Given the description of an element on the screen output the (x, y) to click on. 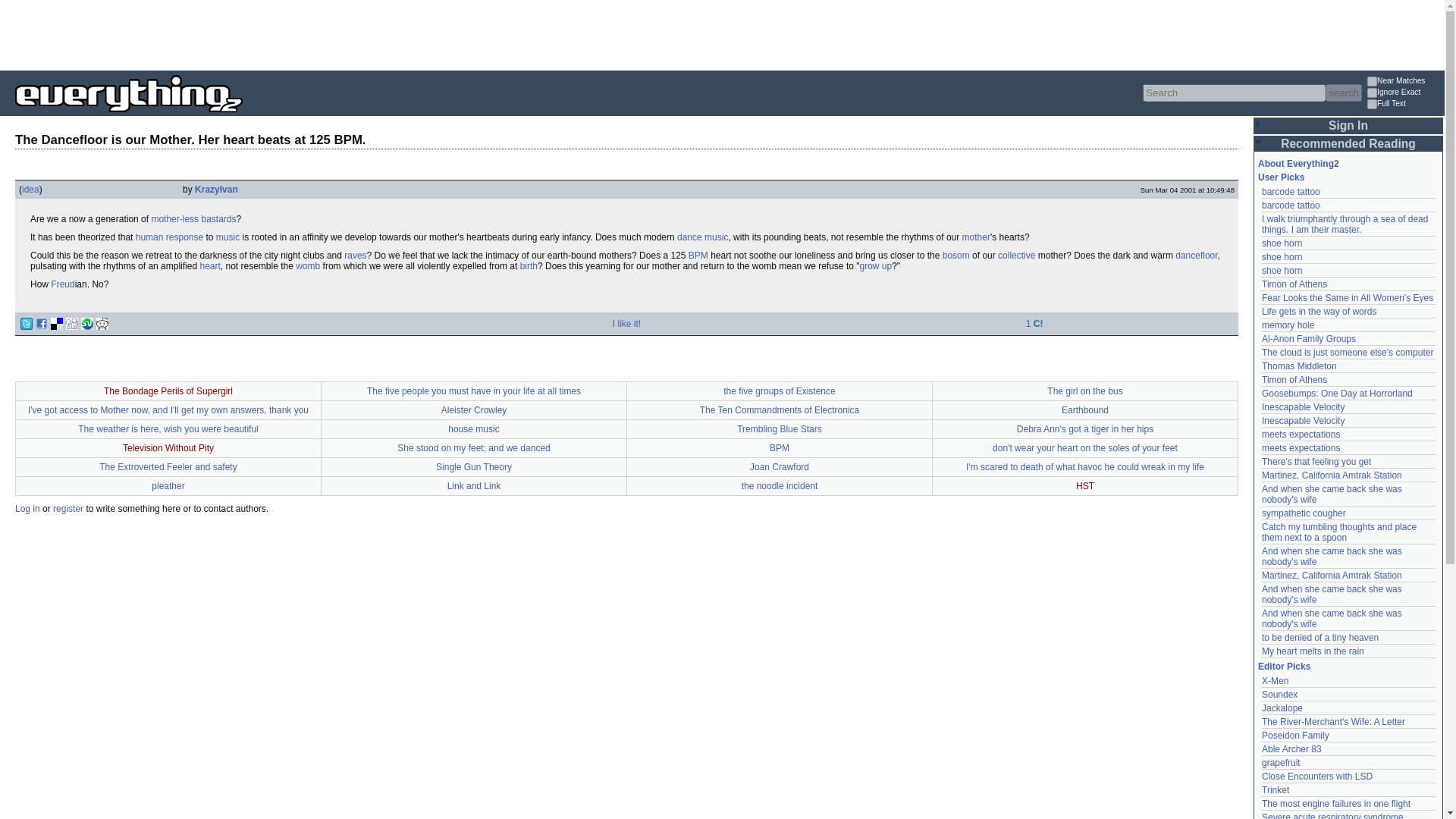
1 (1372, 92)
Search within Everything2 (1342, 92)
search (1342, 92)
search (1342, 92)
BPM (697, 255)
Earthbound (1084, 409)
womb (307, 266)
The girl on the bus (1084, 390)
Search for text within writeups (1404, 104)
